Given the description of an element on the screen output the (x, y) to click on. 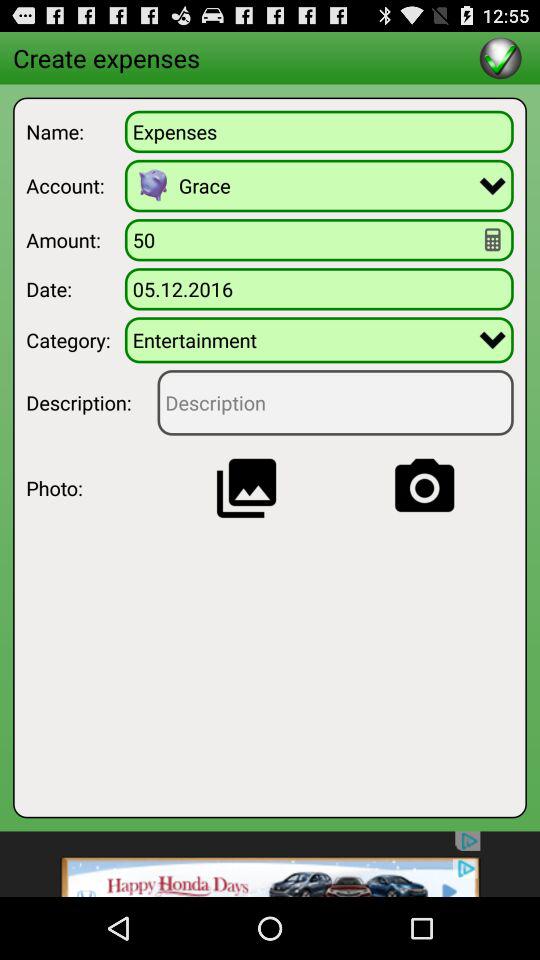
finish data editing (500, 57)
